Given the description of an element on the screen output the (x, y) to click on. 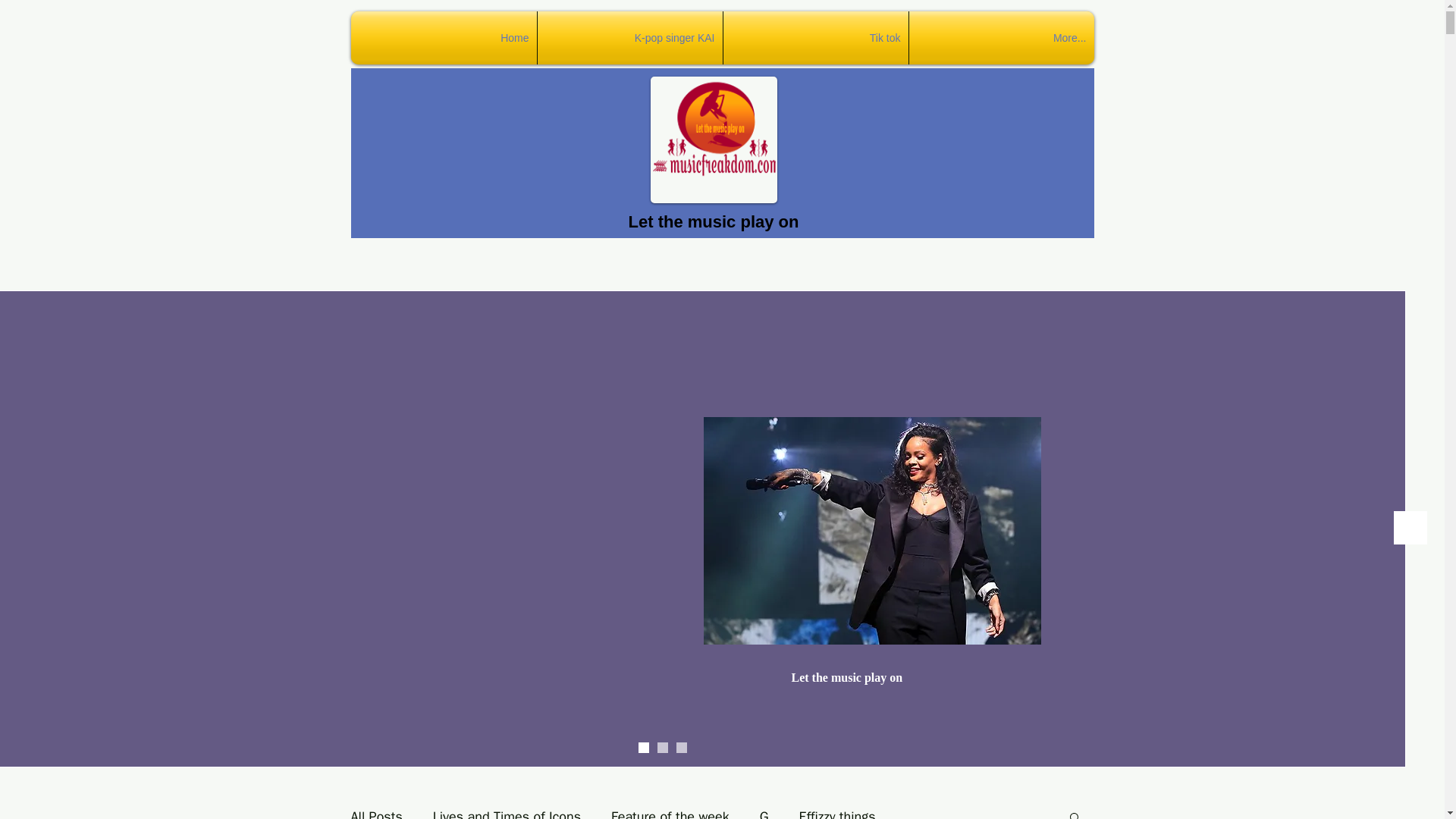
Tik tok (815, 37)
Lives and Times of Icons (506, 813)
Feature of the week (670, 813)
K-pop singer KAI (629, 37)
Home (442, 37)
All Posts (375, 813)
Effizzy things (837, 813)
